Given the description of an element on the screen output the (x, y) to click on. 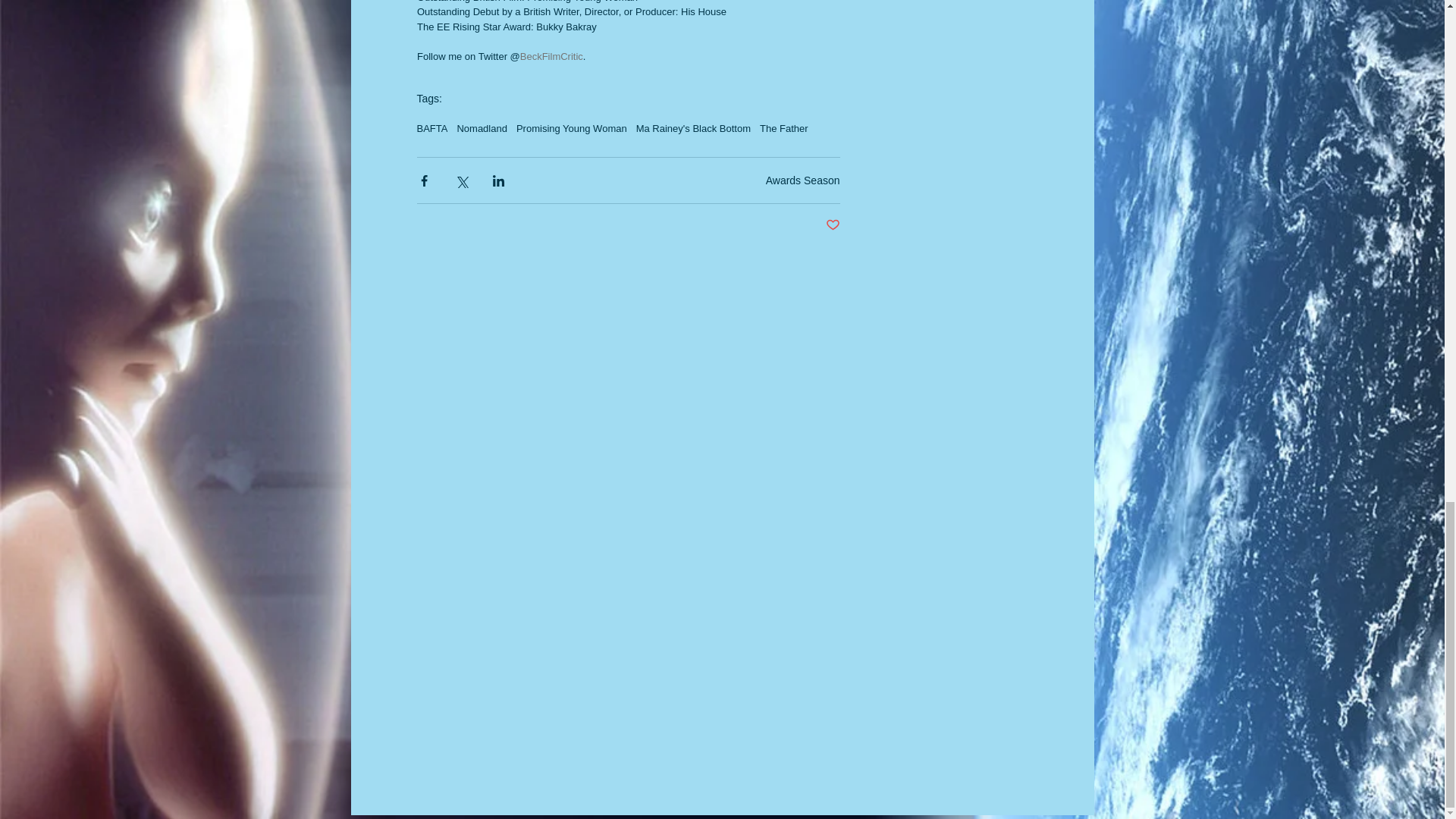
Awards Season (802, 180)
Promising Young Woman (571, 128)
BAFTA (432, 128)
Nomadland (481, 128)
The Father (784, 128)
BeckFilmCritic (550, 56)
Post not marked as liked (832, 225)
Ma Rainey's Black Bottom (693, 128)
